Given the description of an element on the screen output the (x, y) to click on. 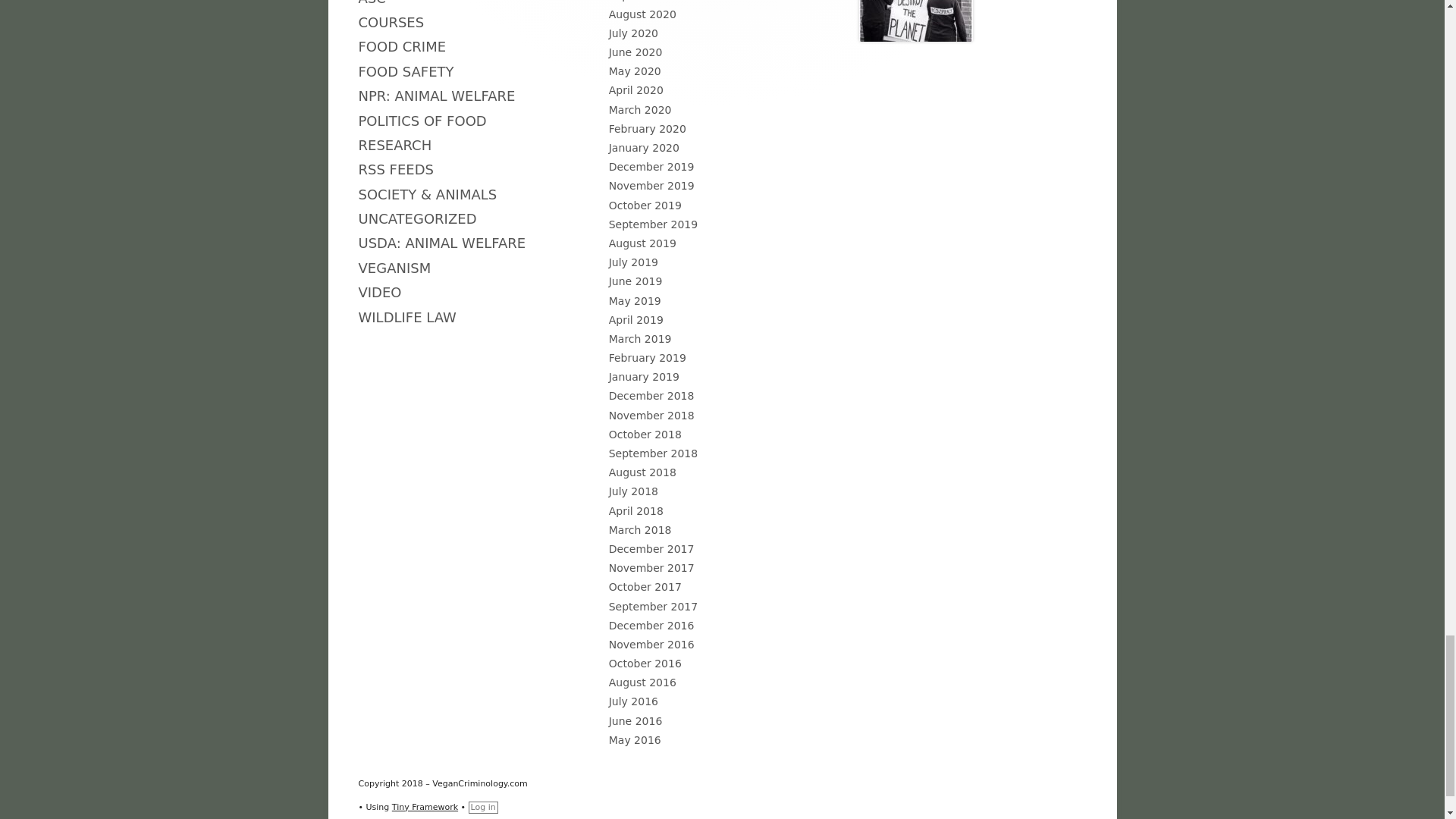
Auto Added by WPeMatico (394, 145)
Auto Added by WPeMatico (427, 194)
